Given the description of an element on the screen output the (x, y) to click on. 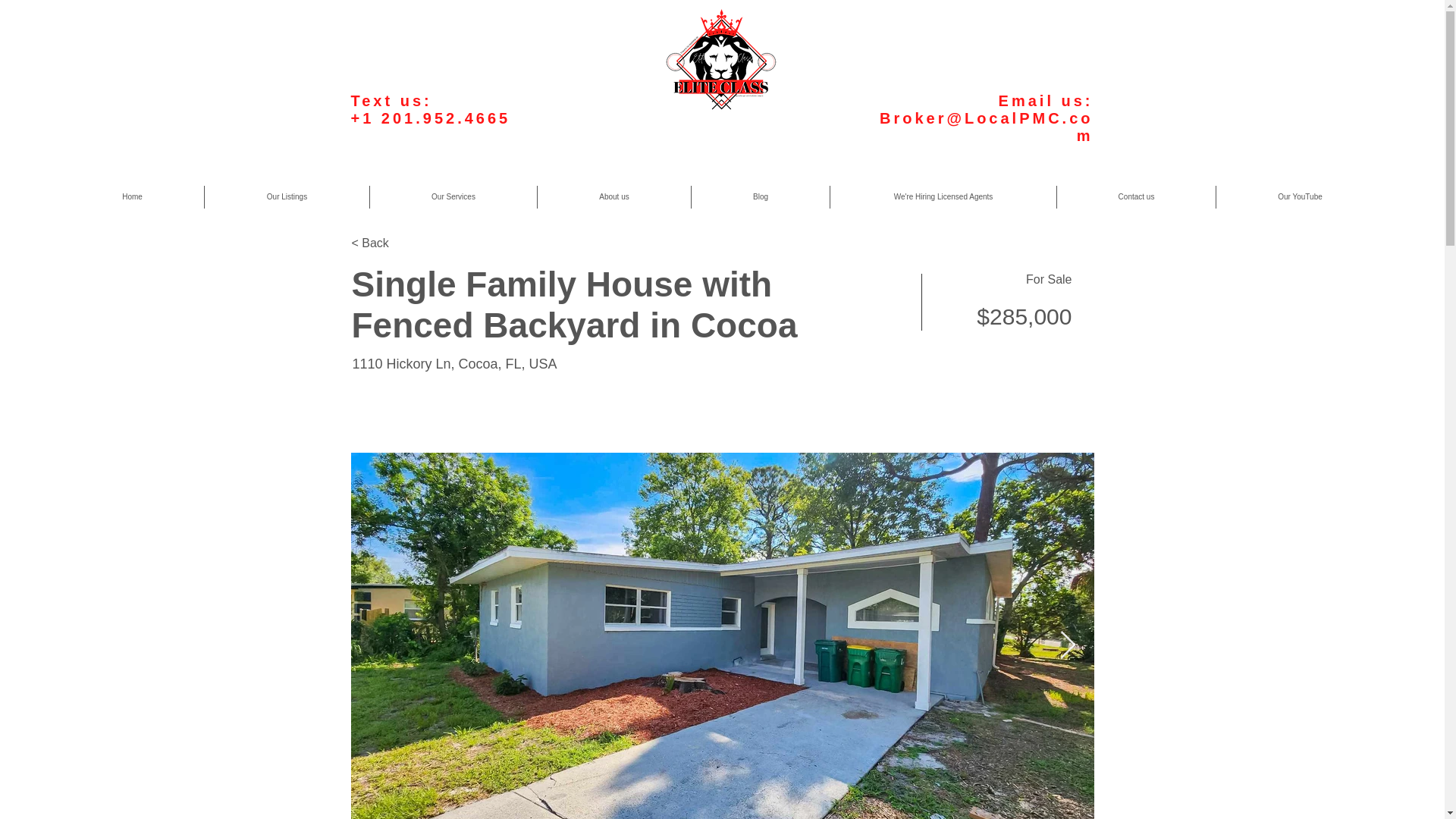
Contact us (1136, 196)
We're Hiring Licensed Agents (943, 196)
Blog (759, 196)
Our Services (453, 196)
Our YouTube (1299, 196)
Home (132, 196)
Our Listings (286, 196)
About us (613, 196)
